Given the description of an element on the screen output the (x, y) to click on. 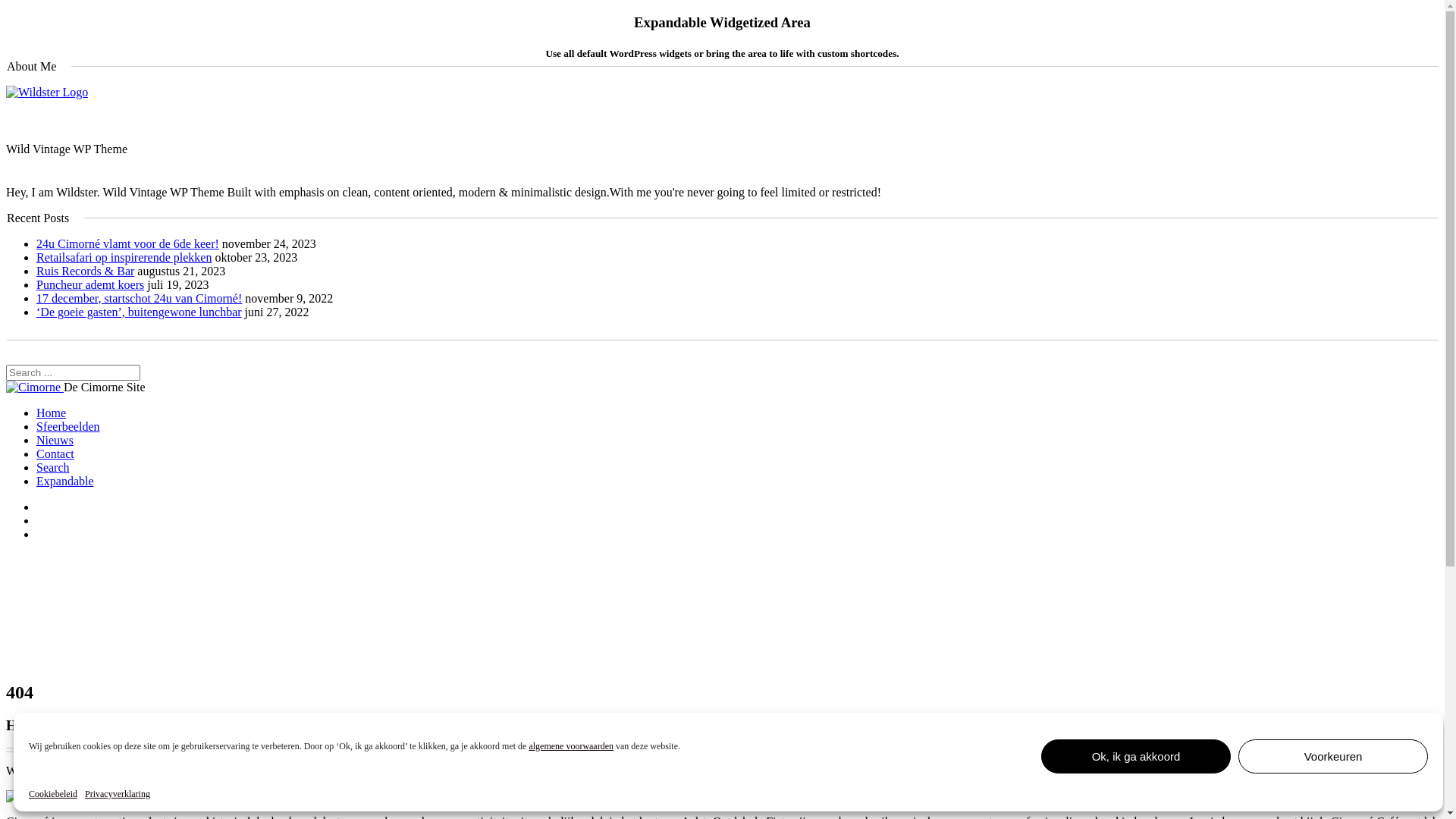
Search Element type: text (52, 467)
Privacyverklaring Element type: text (117, 794)
Voorkeuren Element type: text (1332, 756)
algemene voorwaarden Element type: text (570, 745)
Facebook Element type: hover (669, 356)
Cimorne Element type: hover (33, 387)
Puncheur ademt koers Element type: text (90, 284)
Retailsafari op inspirerende plekken Element type: text (123, 257)
Behance Element type: hover (721, 356)
Sfeerbeelden Element type: text (68, 426)
Expandable Element type: text (65, 480)
Contact Element type: text (55, 453)
Cookiebeleid Element type: text (52, 794)
Home Element type: text (50, 412)
Twitter Element type: hover (773, 356)
Dribbble Element type: hover (747, 356)
Google+ Element type: hover (695, 356)
Ruis Records & Bar Element type: text (85, 270)
Nieuws Element type: text (54, 439)
Ok, ik ga akkoord Element type: text (1135, 756)
